Given the description of an element on the screen output the (x, y) to click on. 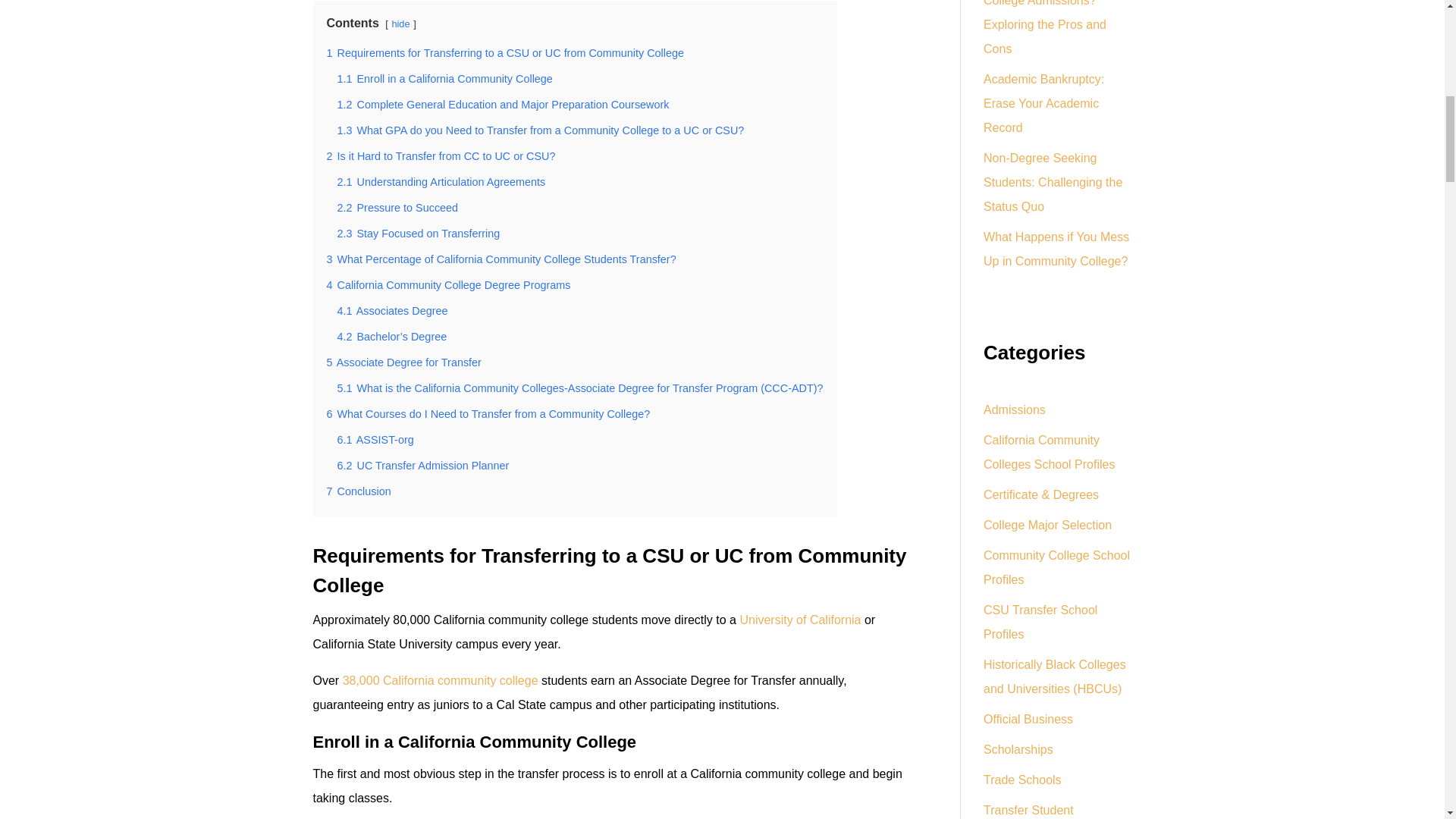
38,000 California community college (440, 680)
4.1 Associates Degree (391, 310)
hide (400, 23)
2.3 Stay Focused on Transferring (417, 233)
2.2 Pressure to Succeed (397, 207)
6.2 UC Transfer Admission Planner (422, 465)
2 Is it Hard to Transfer from CC to UC or CSU? (440, 155)
